Given the description of an element on the screen output the (x, y) to click on. 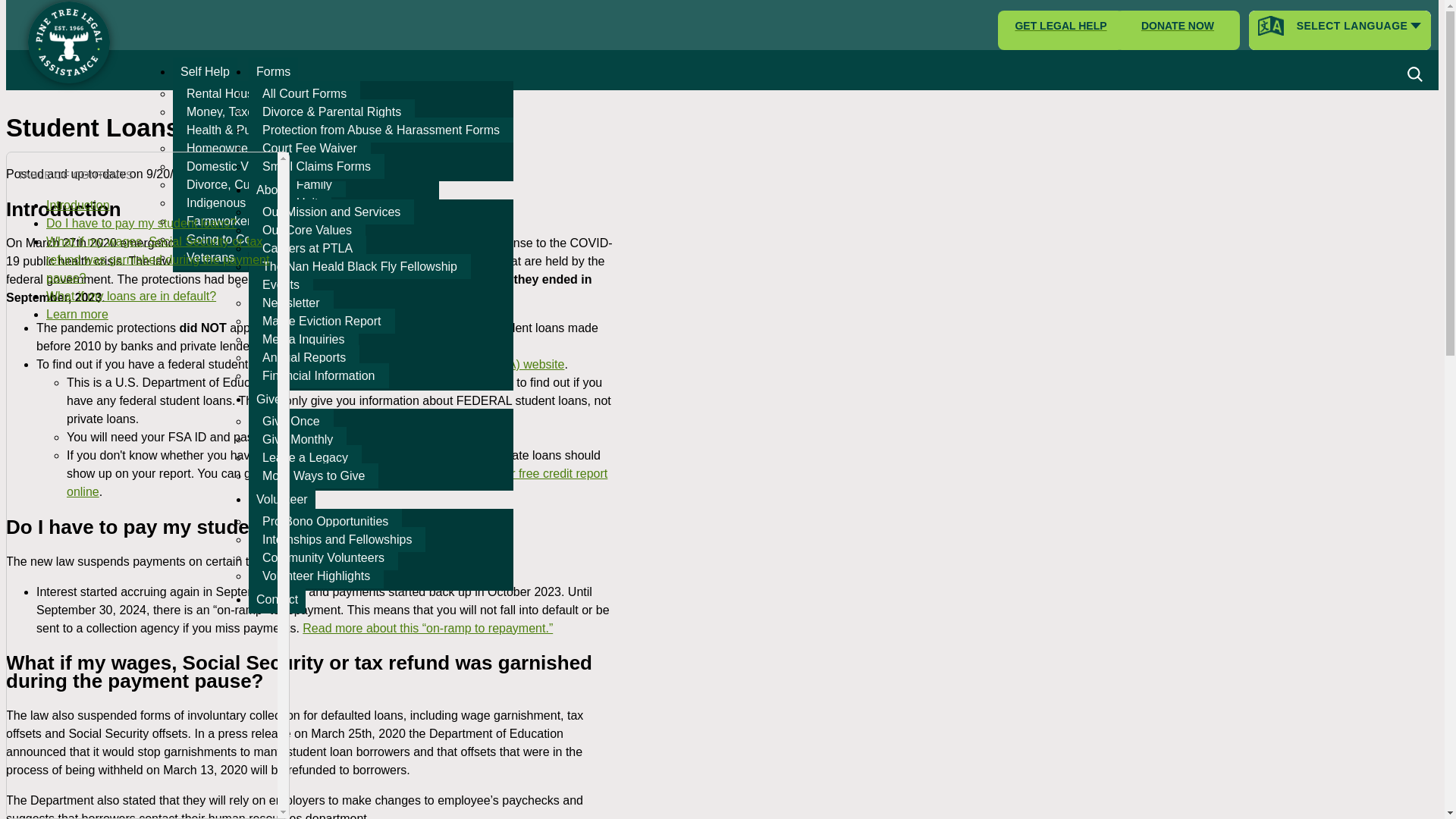
06 (1414, 74)
DONATE NOW (1177, 29)
Forms (273, 71)
All Court Forms (303, 93)
Court Fee Waiver (309, 147)
Indigenous Peoples Unit (252, 202)
Veterans (210, 257)
06 (1414, 74)
Going to Court (226, 238)
Rental Housing (227, 93)
Self Help (205, 71)
Small Claims Forms (316, 166)
GET LEGAL HELP (1060, 29)
